Given the description of an element on the screen output the (x, y) to click on. 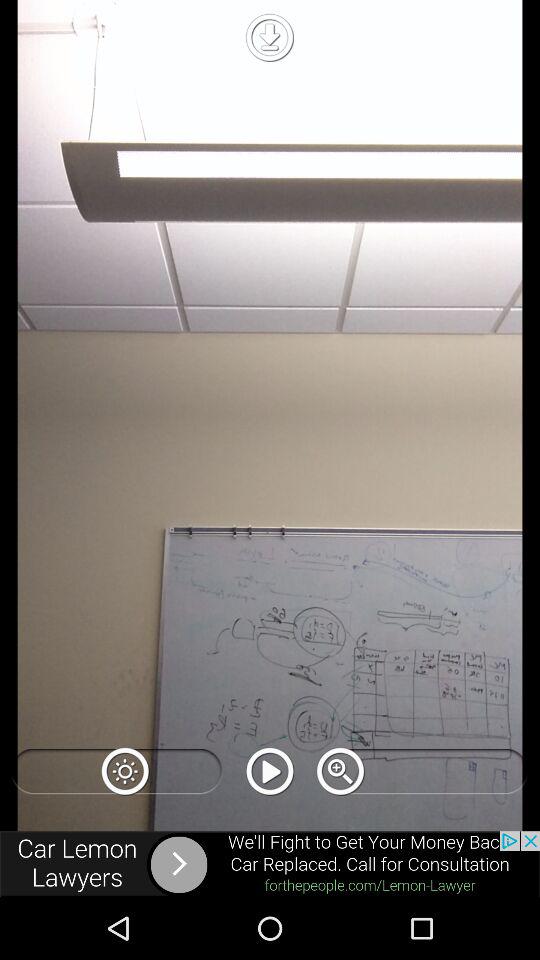
downloade pattern (269, 37)
